Given the description of an element on the screen output the (x, y) to click on. 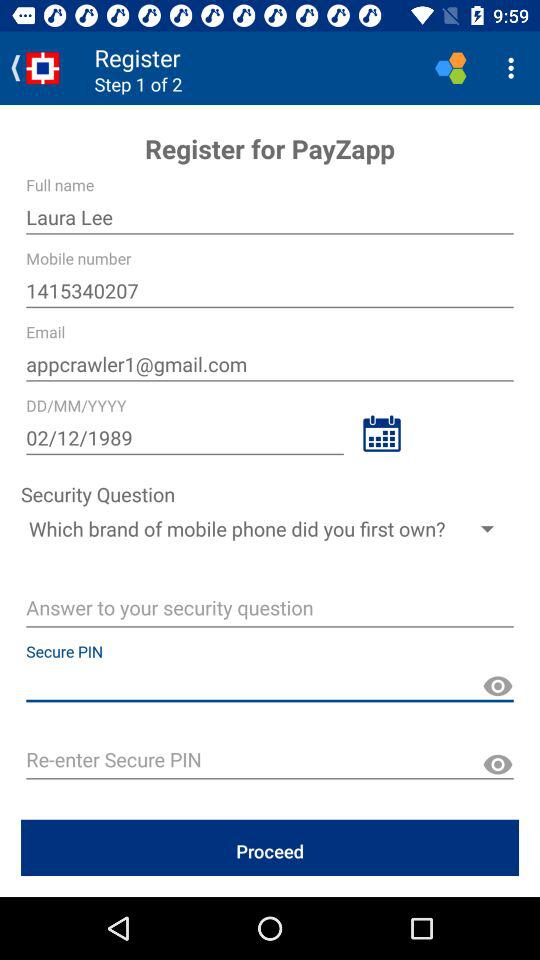
reveal pin (498, 764)
